Given the description of an element on the screen output the (x, y) to click on. 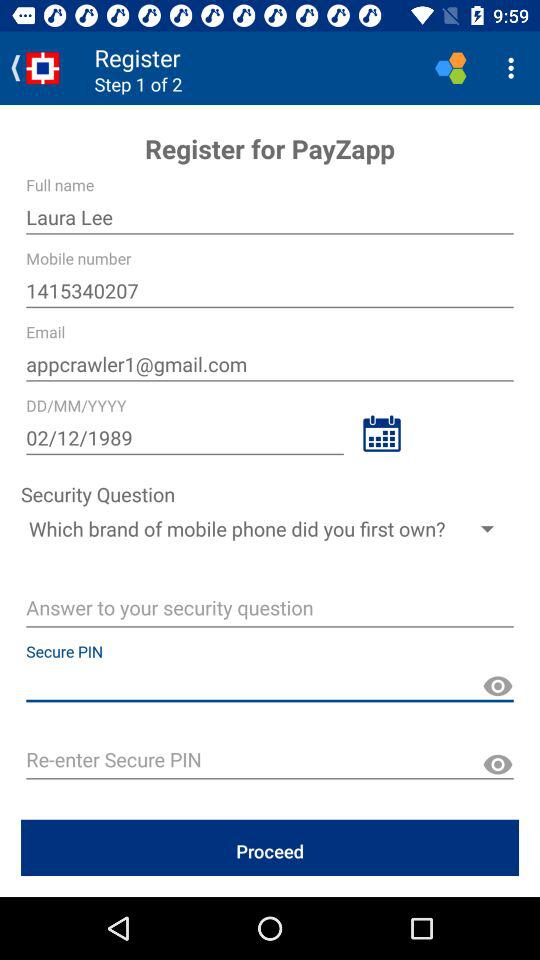
reveal pin (498, 764)
